Given the description of an element on the screen output the (x, y) to click on. 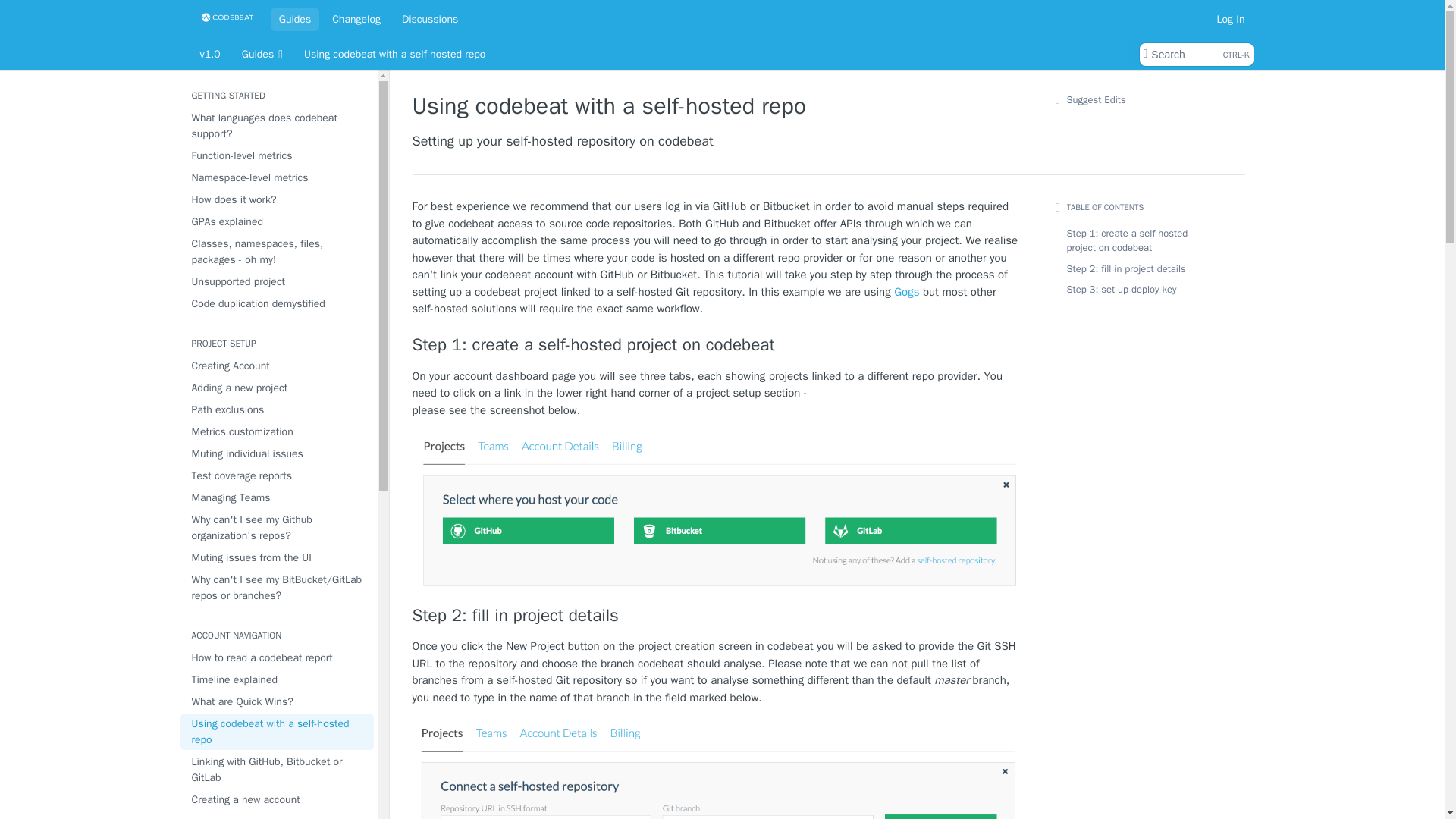
Unsupported project (277, 281)
Log In (1230, 18)
Muting individual issues (277, 453)
Step 2: fill in project details (715, 615)
Function-level metrics (277, 155)
Step 1: create a self-hosted project on codebeat (715, 344)
Creating Account (1195, 54)
Classes, namespaces, files, packages - oh my! (277, 365)
Changelog (277, 251)
